Given the description of an element on the screen output the (x, y) to click on. 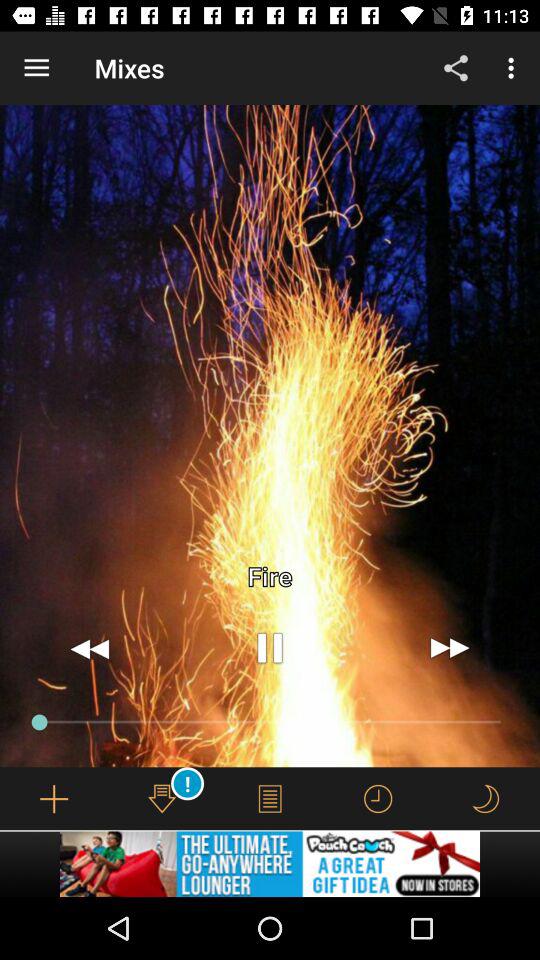
open icon to the left of the mixes item (36, 68)
